Given the description of an element on the screen output the (x, y) to click on. 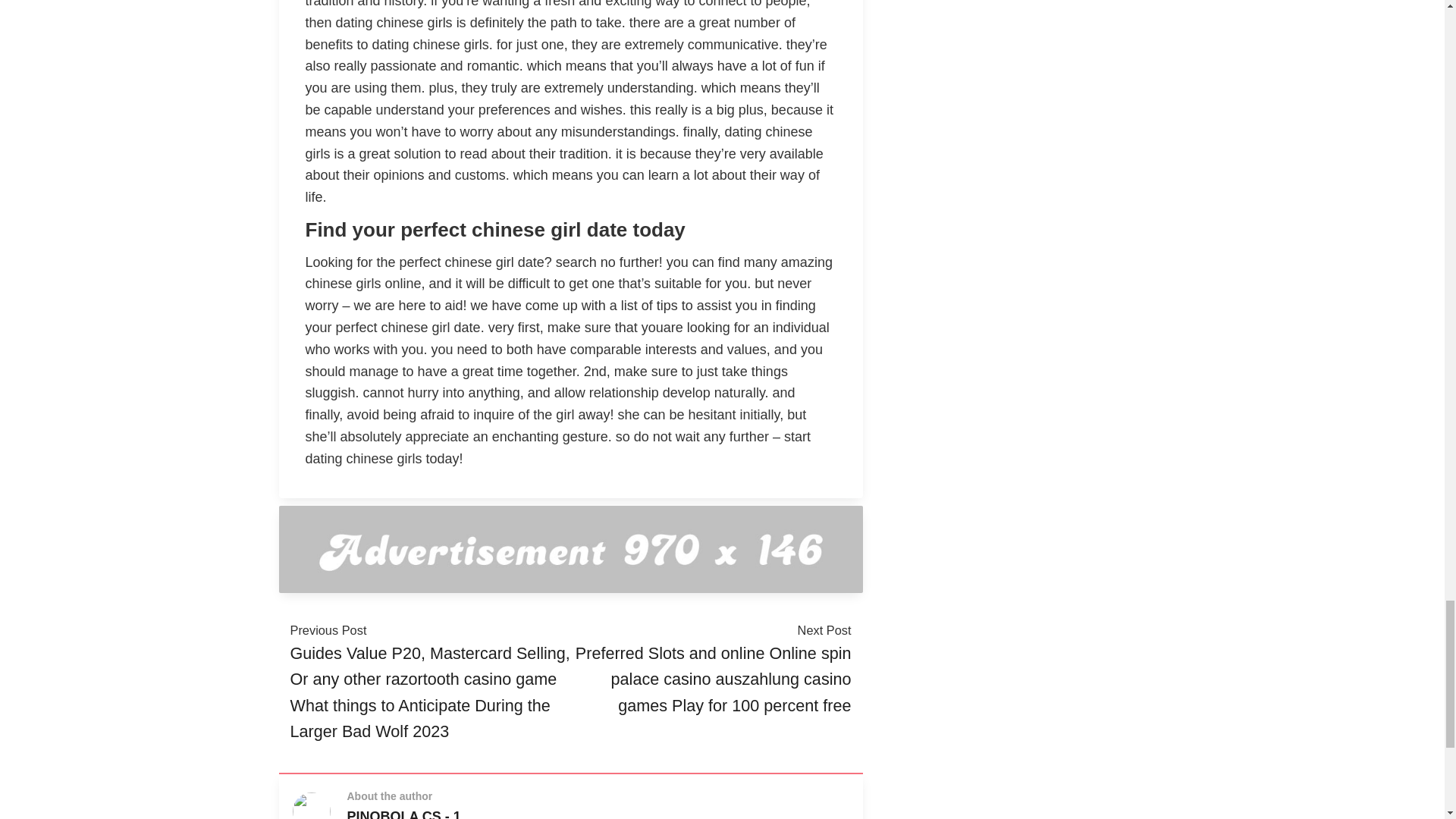
PINOBOLA CS - 1 (404, 814)
